Given the description of an element on the screen output the (x, y) to click on. 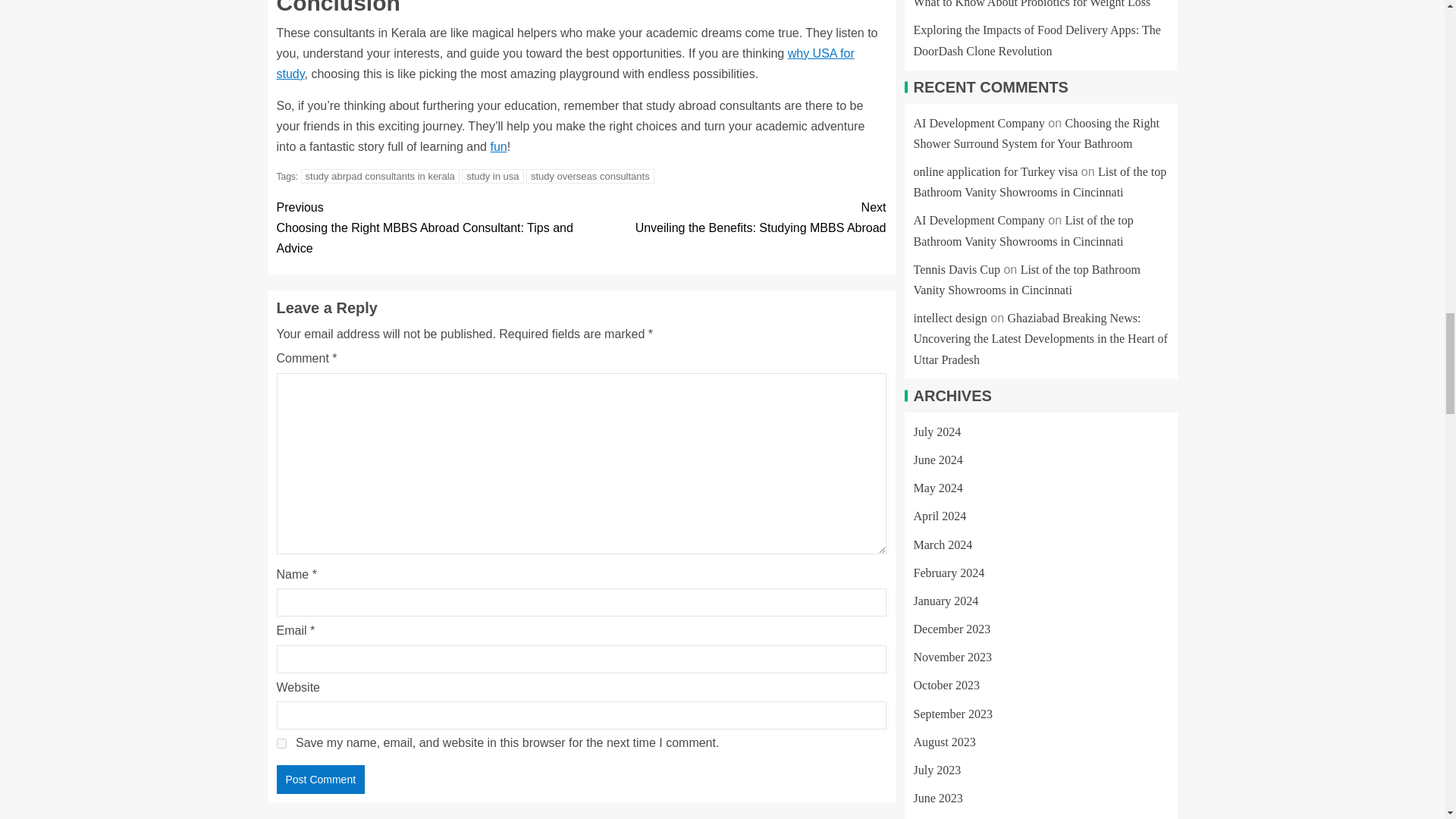
study overseas consultants (589, 175)
study in usa (491, 175)
Post Comment (320, 778)
why USA for study (564, 63)
study abrpad consultants in kerala (380, 175)
Post Comment (320, 778)
yes (280, 743)
fun (732, 217)
